Given the description of an element on the screen output the (x, y) to click on. 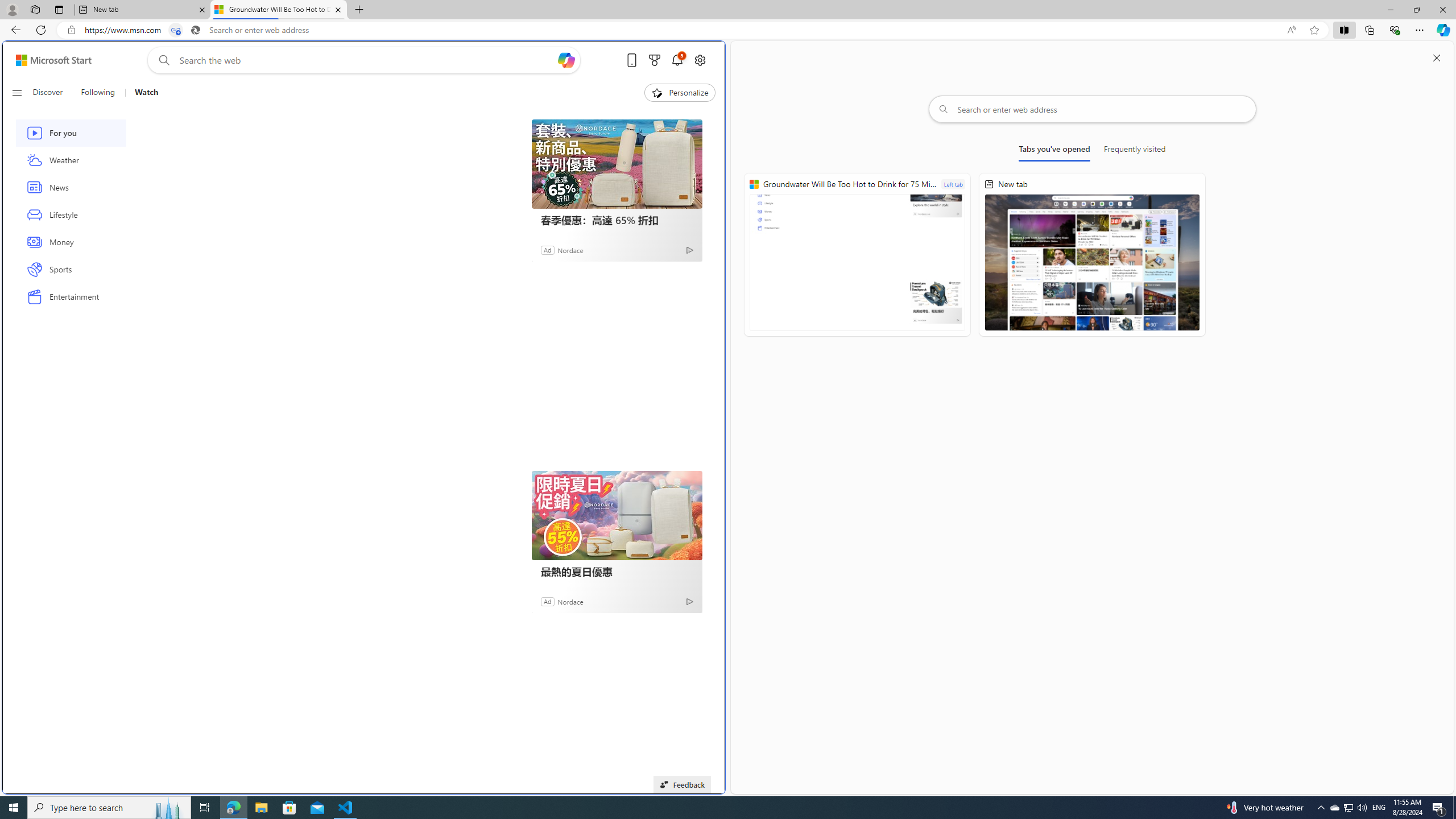
Class: button-glyph (16, 92)
